Given the description of an element on the screen output the (x, y) to click on. 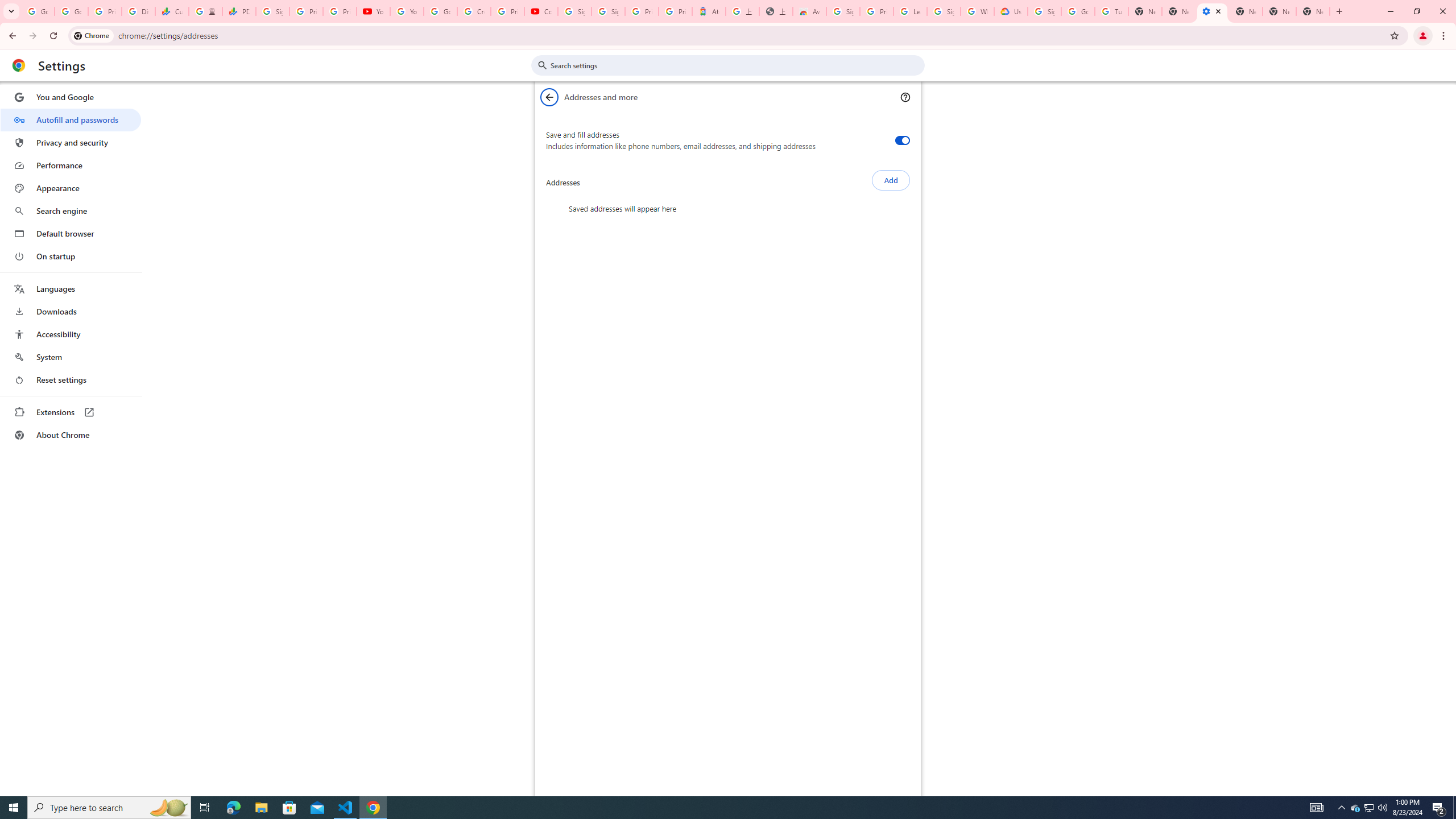
Google Workspace Admin Community (37, 11)
PDD Holdings Inc - ADR (PDD) Price & News - Google Finance (238, 11)
Performance (70, 164)
Sign in - Google Accounts (1043, 11)
Atour Hotel - Google hotels (708, 11)
Sign in - Google Accounts (608, 11)
Extensions (70, 412)
